Given the description of an element on the screen output the (x, y) to click on. 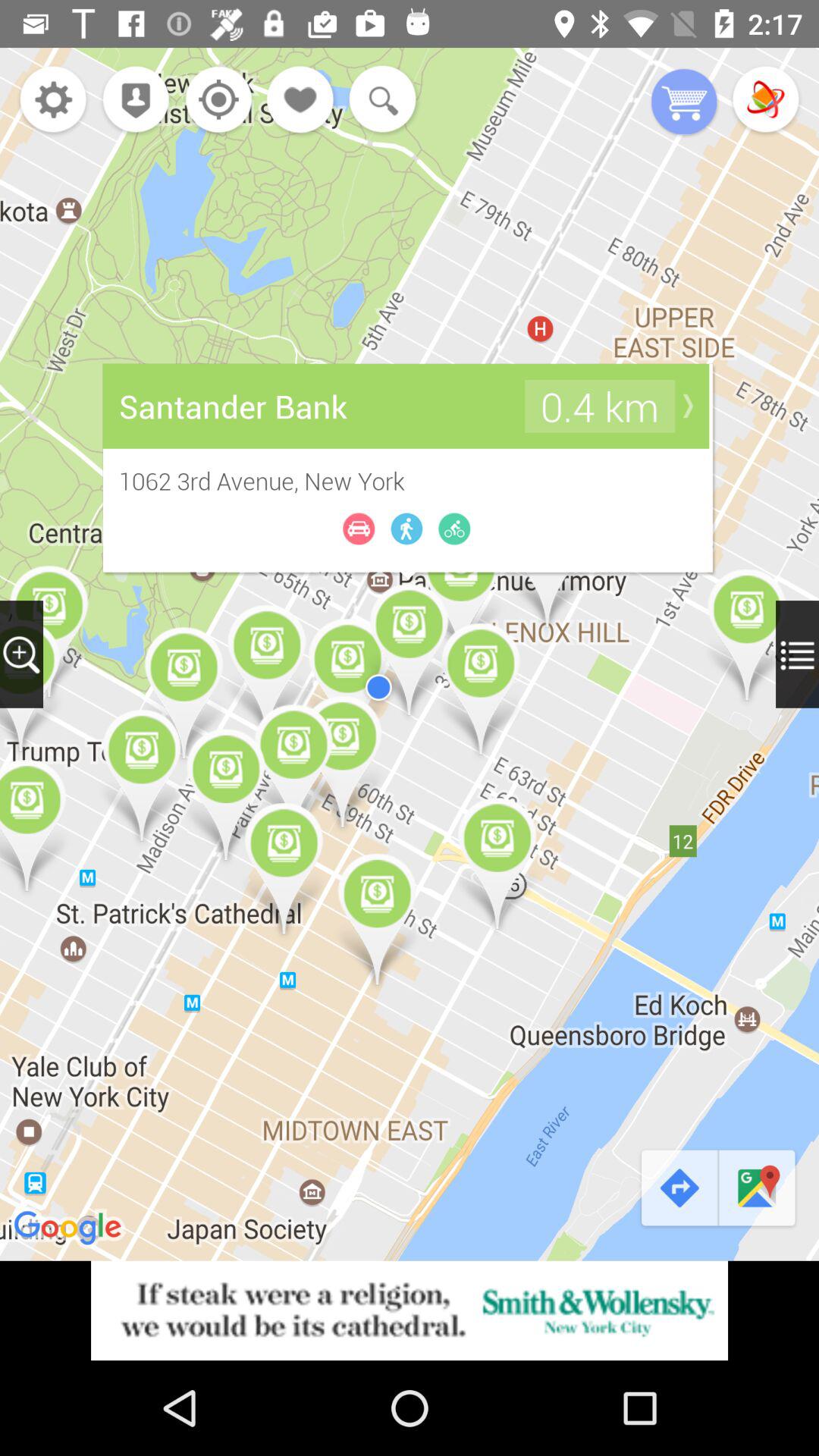
view cart (684, 102)
